Given the description of an element on the screen output the (x, y) to click on. 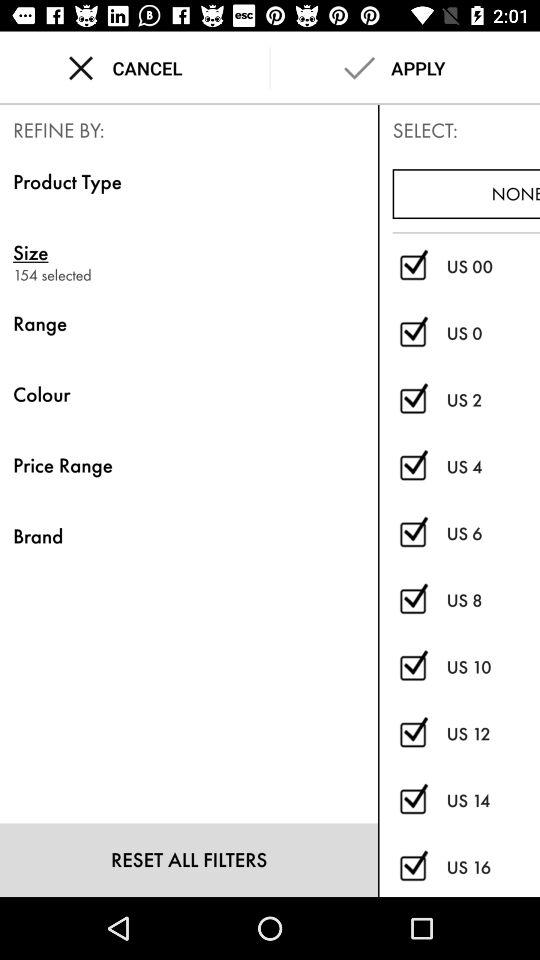
unselect (412, 867)
